Given the description of an element on the screen output the (x, y) to click on. 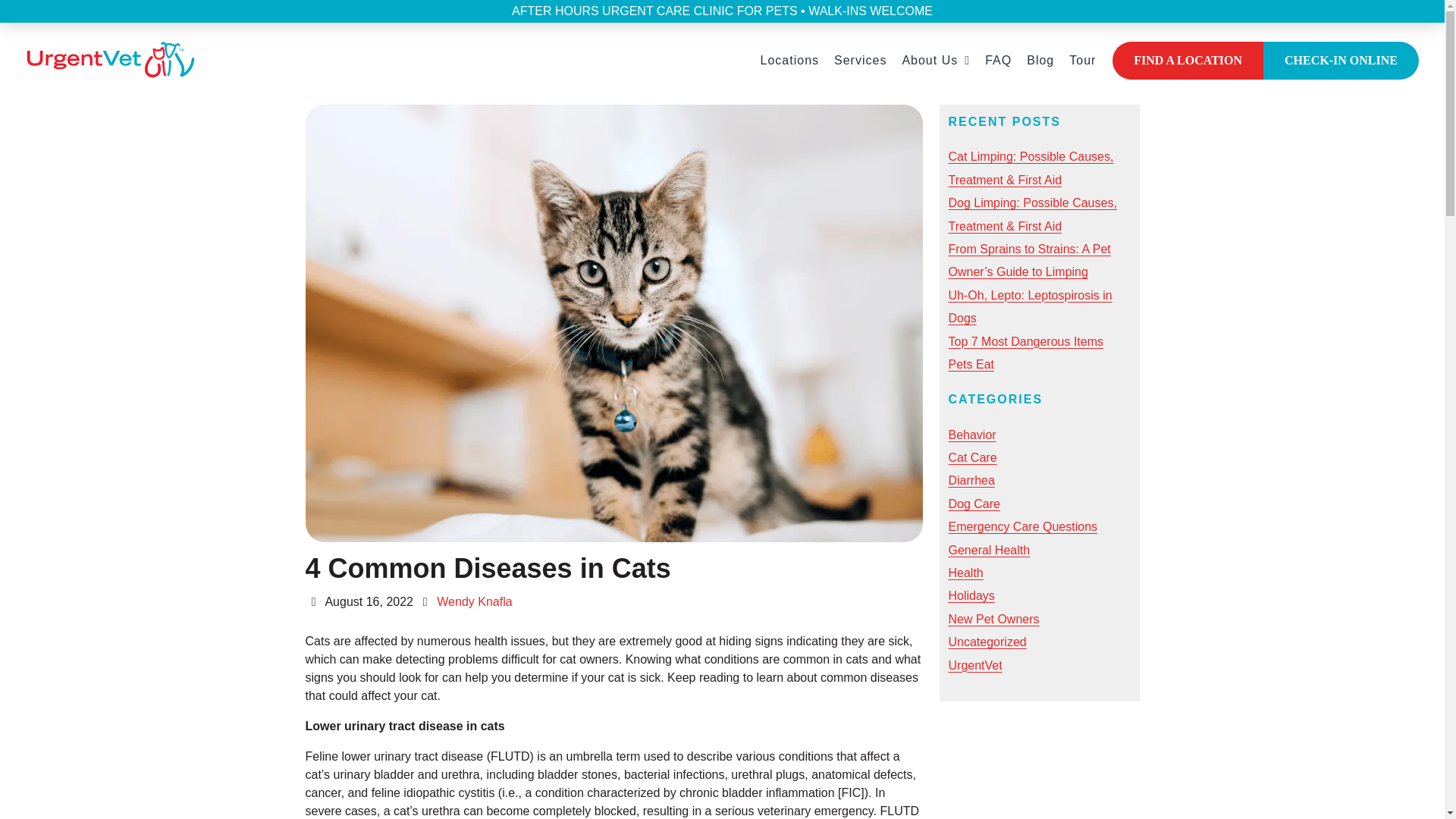
Locations (789, 60)
Services (860, 60)
Tour (1082, 60)
Top 7 Most Dangerous Items Pets Eat (1025, 352)
Blog (1040, 60)
About Us (935, 60)
Wendy Knafla (474, 601)
FIND A LOCATION (1187, 60)
Uh-Oh, Lepto: Leptospirosis in Dogs (1029, 306)
CHECK-IN ONLINE (1340, 60)
FAQ (998, 60)
